Given the description of an element on the screen output the (x, y) to click on. 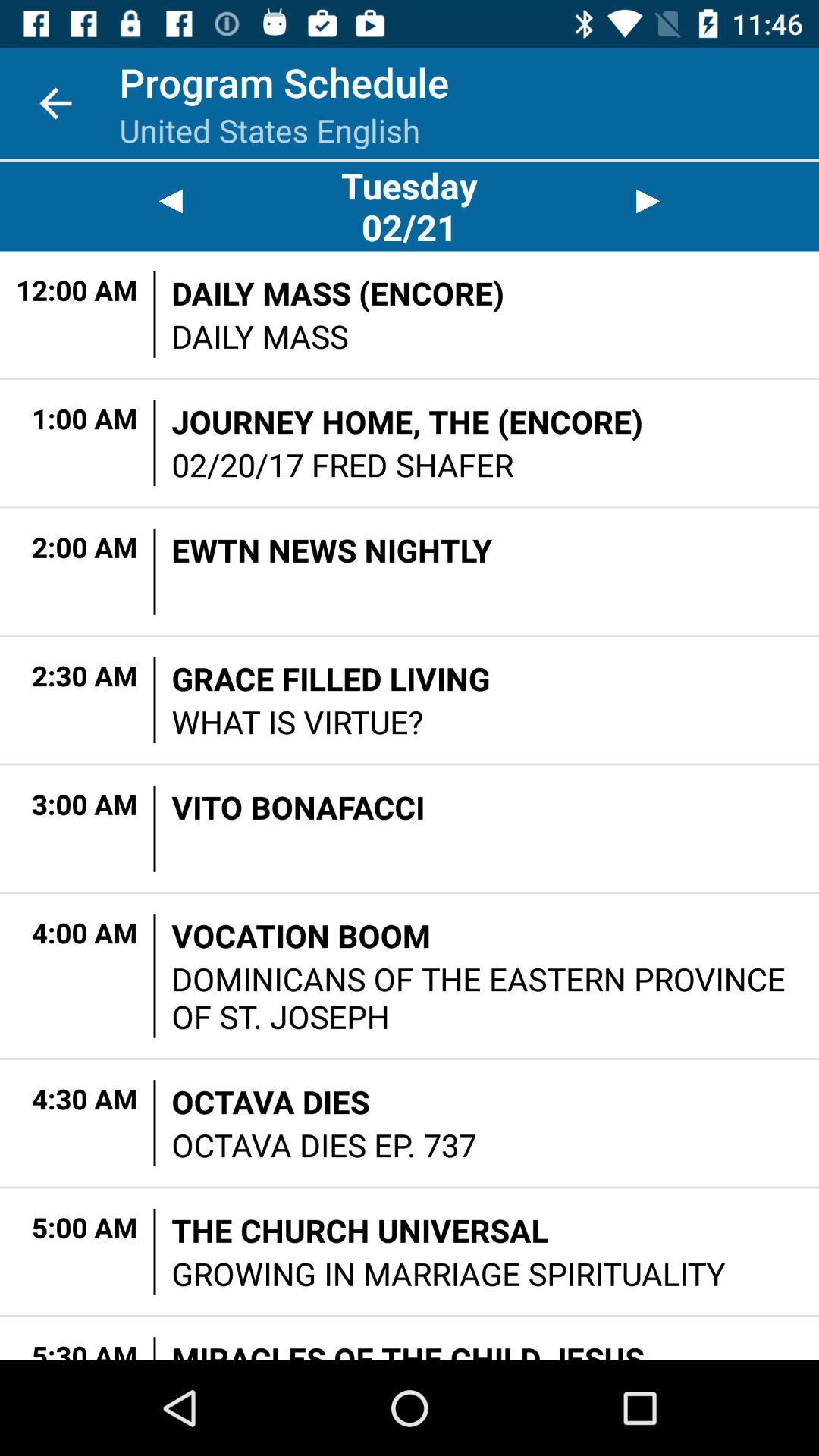
flip to the the church universal icon (359, 1229)
